Given the description of an element on the screen output the (x, y) to click on. 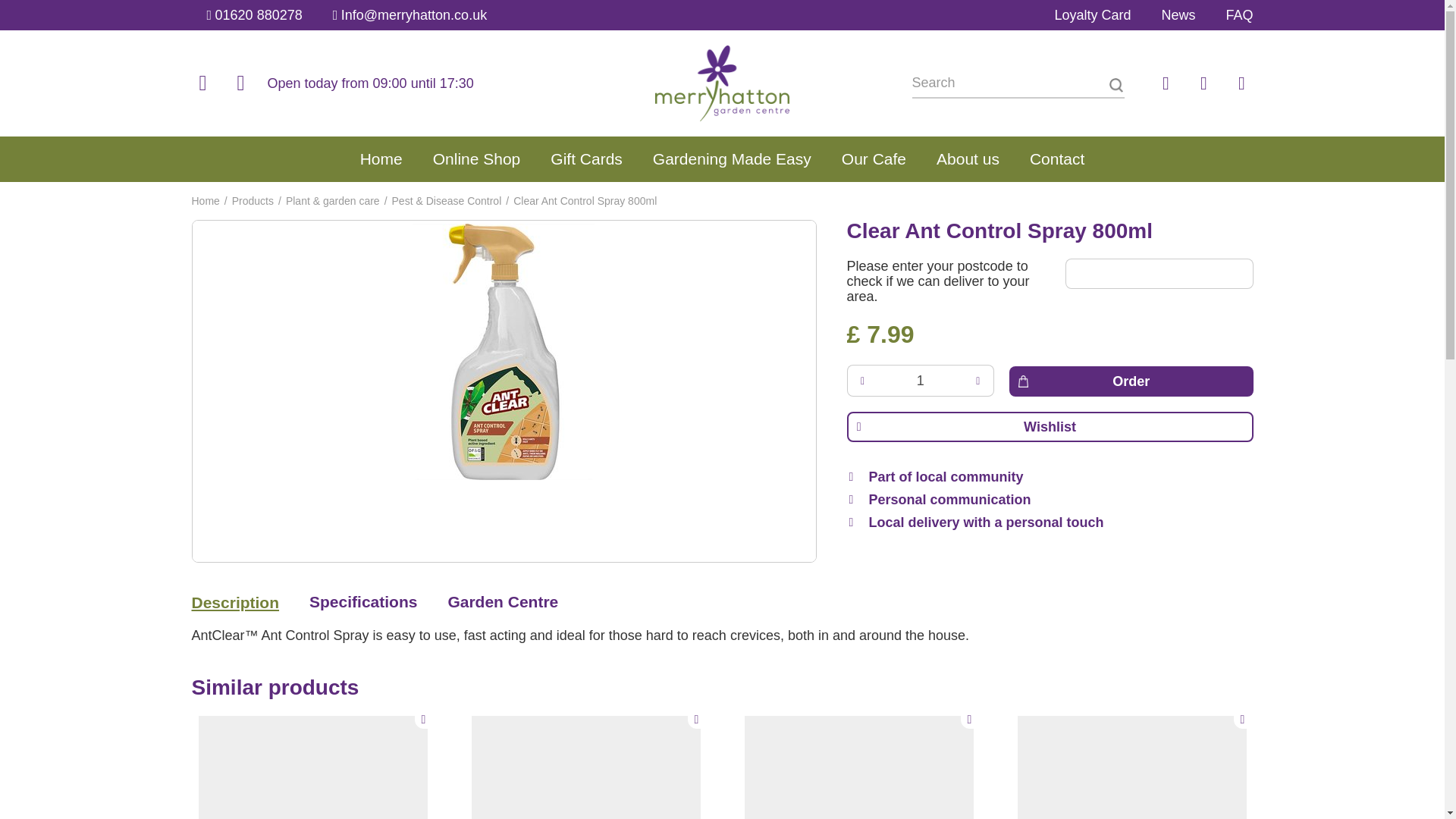
Merryhatton Garden Centre in North Berwick (722, 83)
Webshop (476, 158)
tw (239, 83)
1 (919, 380)
Wishlist (1048, 426)
Gift Cards (586, 158)
FAQ (1238, 15)
Go to the wishlist (1203, 83)
Home (204, 200)
Merryhatton Loyalty Card (1092, 15)
News (1177, 15)
Gardening Made Easy (732, 158)
Login (1165, 83)
Loyalty Card (1092, 15)
Home (381, 158)
